Given the description of an element on the screen output the (x, y) to click on. 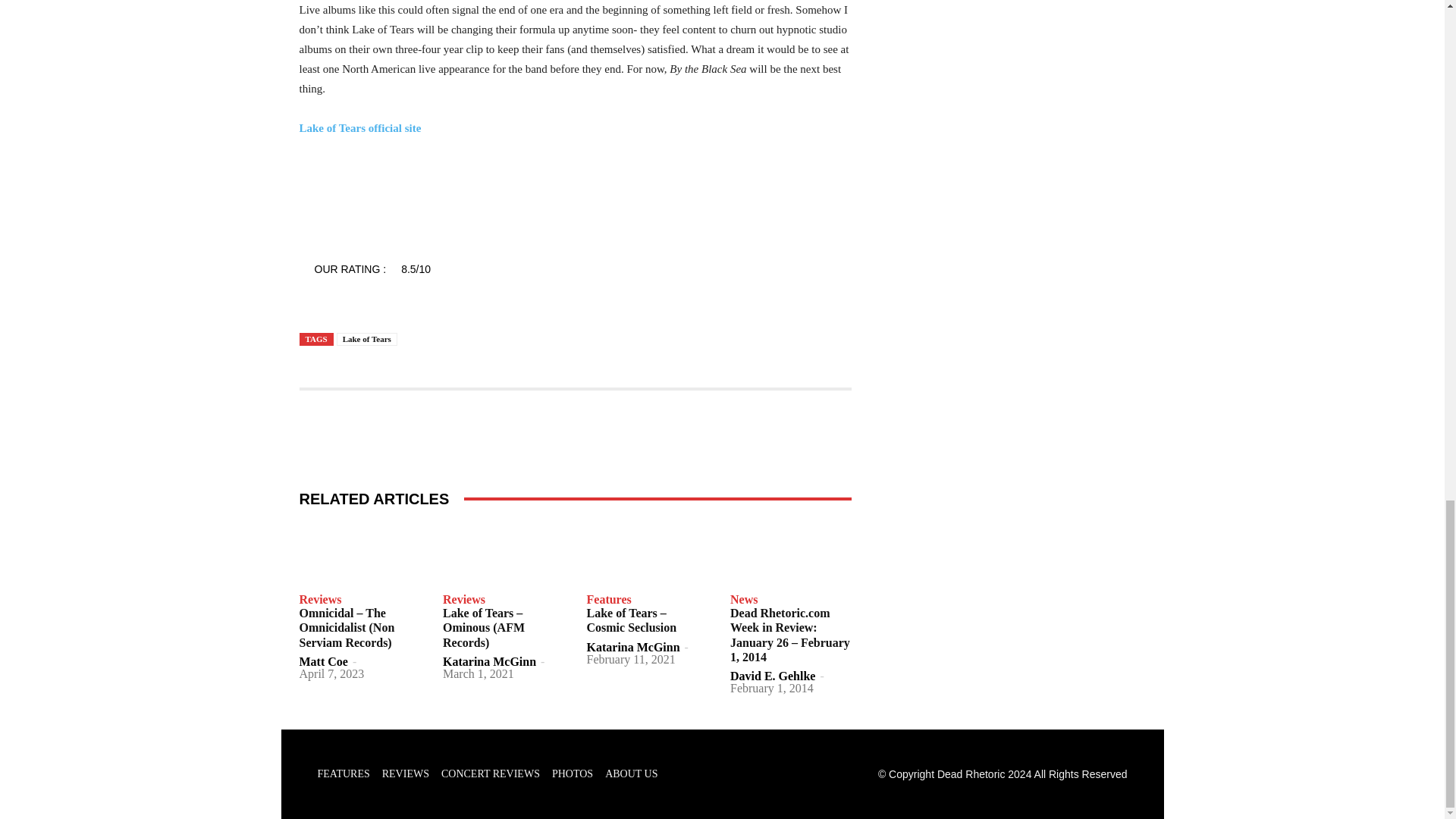
Lake of Tears official site (359, 128)
Lake of Tears (366, 338)
Katarina McGinn (632, 646)
Katarina McGinn (488, 661)
Matt Coe (322, 661)
Features (608, 599)
Reviews (319, 599)
Reviews (463, 599)
